Given the description of an element on the screen output the (x, y) to click on. 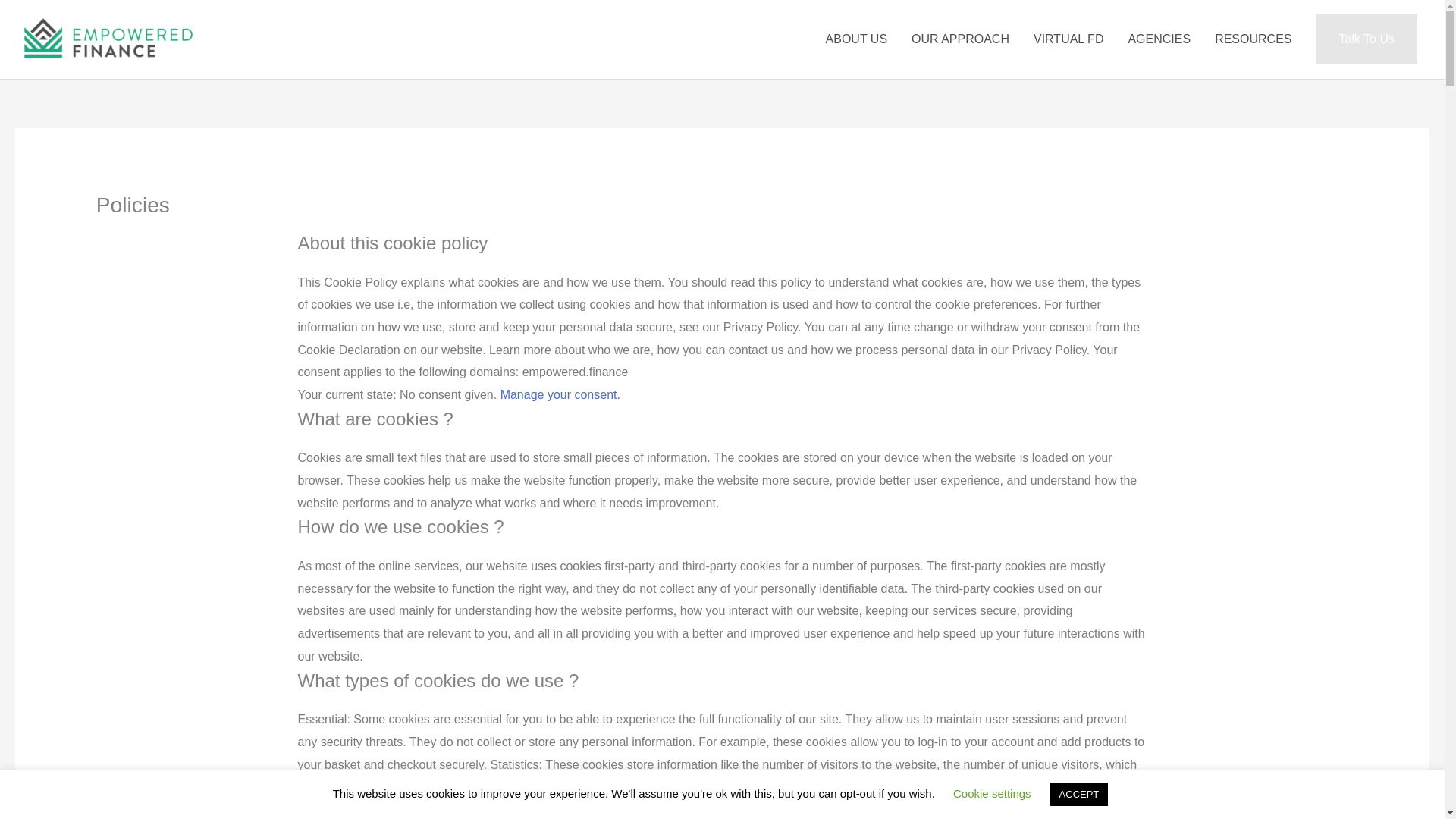
RESOURCES (1252, 39)
OUR APPROACH (960, 39)
Cookie settings (991, 793)
ACCEPT (1078, 793)
VIRTUAL FD (1068, 39)
AGENCIES (1158, 39)
Manage your consent. (560, 394)
Talk To Us (1366, 39)
ABOUT US (856, 39)
